Given the description of an element on the screen output the (x, y) to click on. 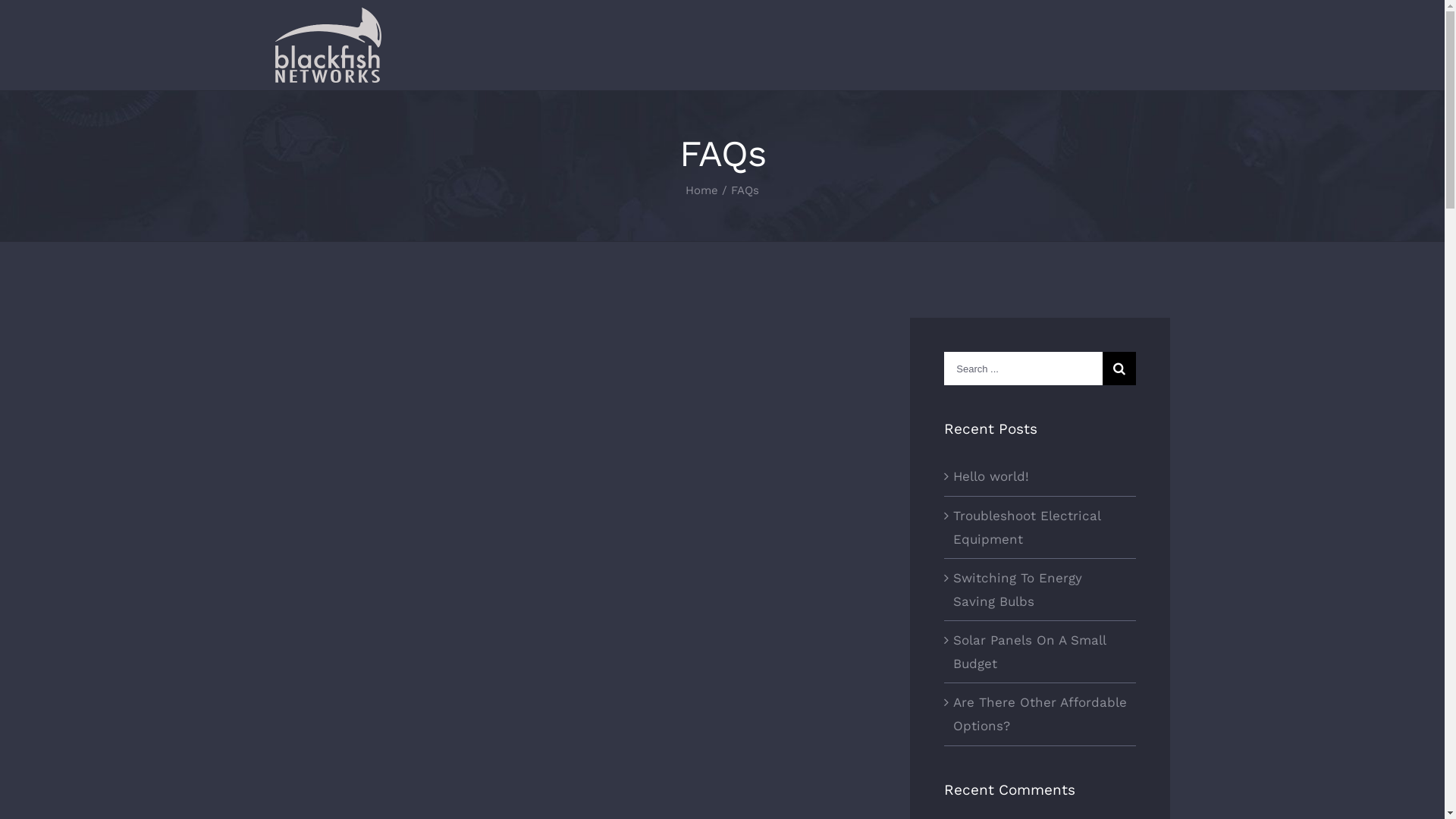
Troubleshoot Electrical Equipment Element type: text (1026, 527)
Switching To Energy Saving Bulbs Element type: text (1017, 589)
Home Element type: text (701, 190)
Are There Other Affordable Options? Element type: text (1039, 713)
Solar Panels On A Small Budget Element type: text (1029, 651)
Hello world! Element type: text (991, 475)
